Given the description of an element on the screen output the (x, y) to click on. 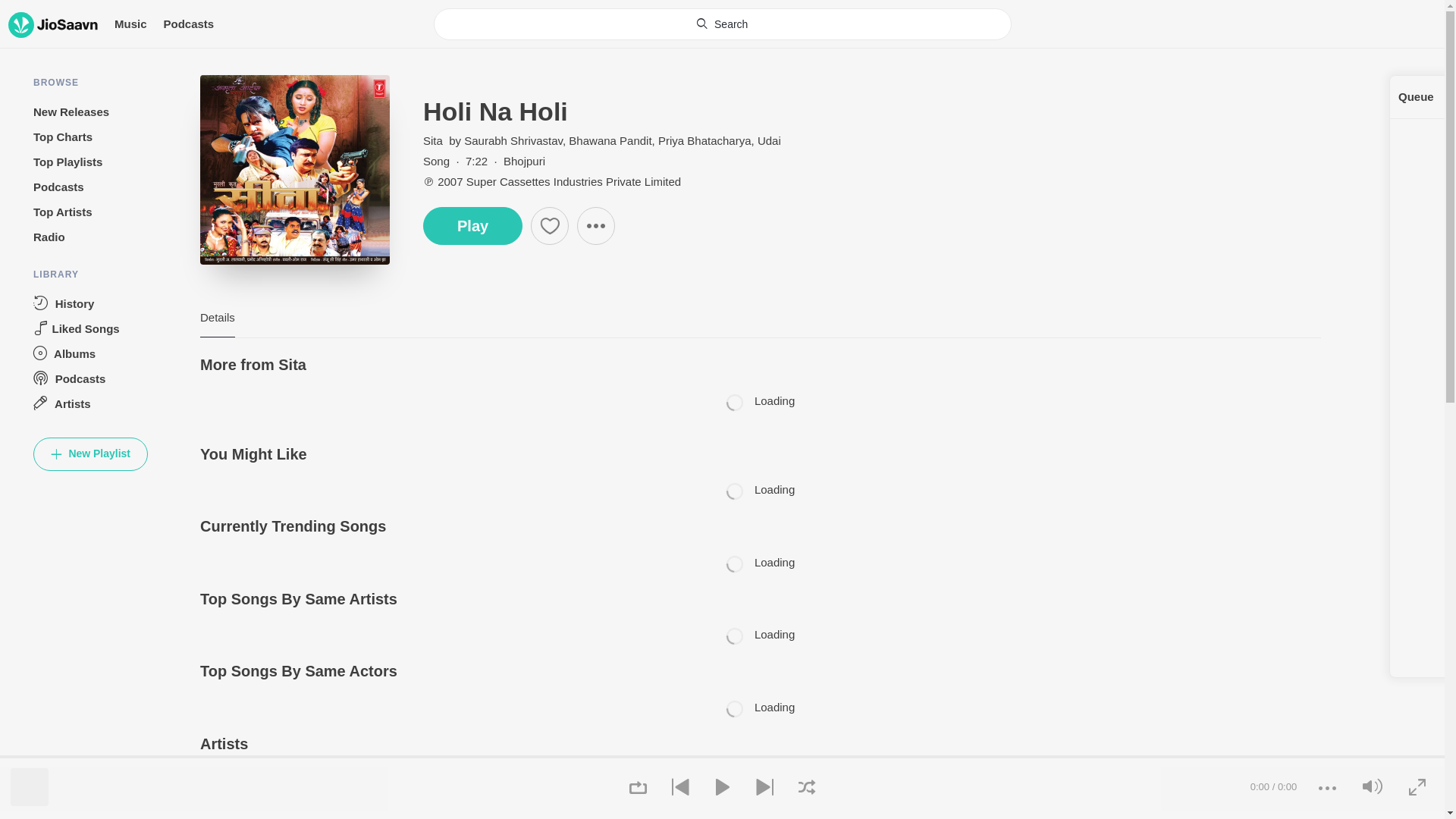
Saurabh Shrivastav (513, 140)
Music (131, 23)
Music (131, 23)
Podcasts (188, 23)
Udai (768, 140)
Bhawana Pandit (609, 140)
Sita (434, 140)
Priya Bhatacharya (704, 140)
Logo Button (52, 24)
